Given the description of an element on the screen output the (x, y) to click on. 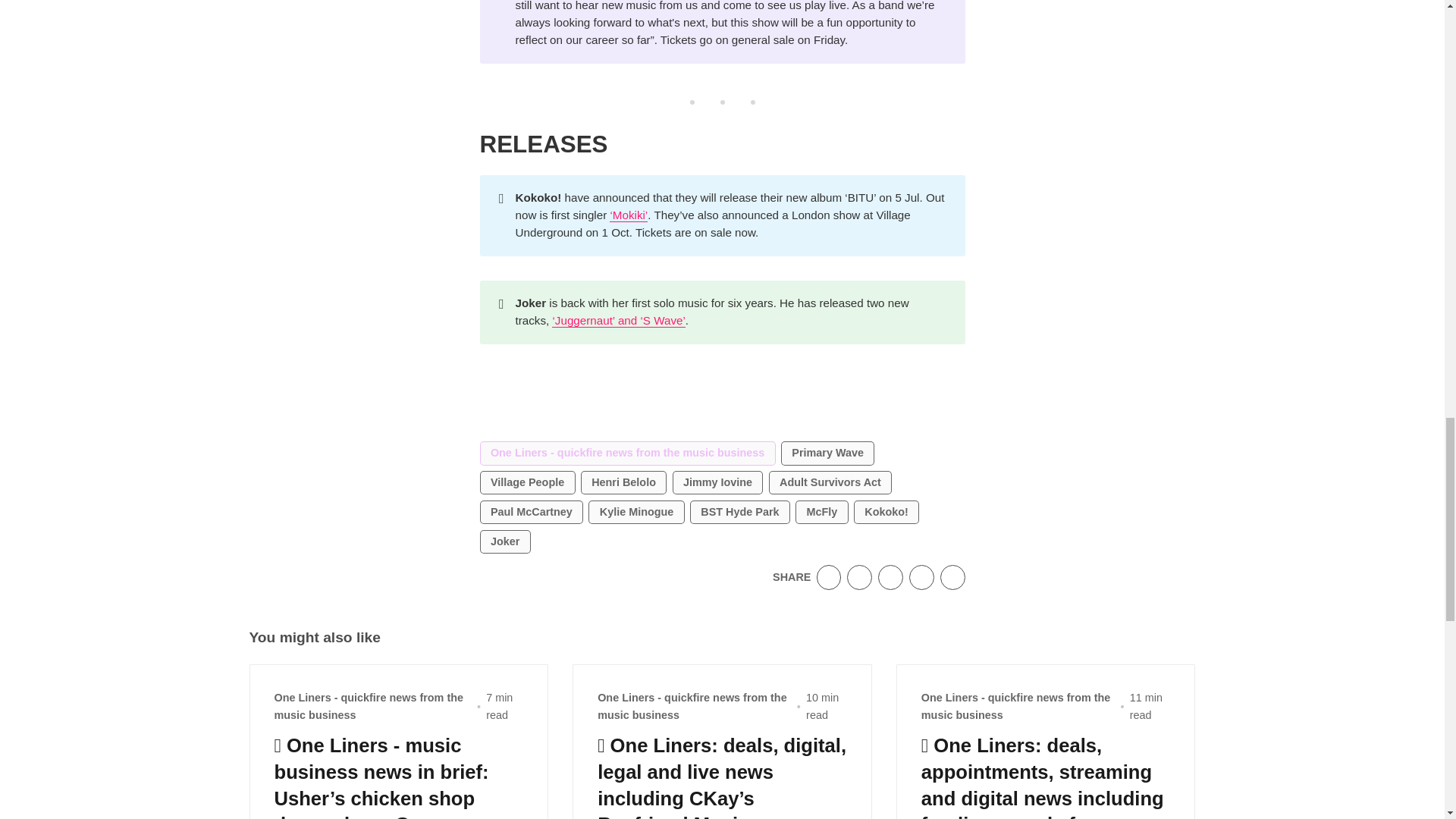
Share on Facebook (859, 577)
Henri Belolo (623, 482)
Share on Linkedin (889, 577)
Share by email (921, 577)
Copy to clipboard (952, 577)
Jimmy Iovine (717, 482)
Primary Wave (827, 453)
Village People (527, 482)
Share on Twitter (828, 577)
One Liners - quickfire news from the music business (626, 453)
